Given the description of an element on the screen output the (x, y) to click on. 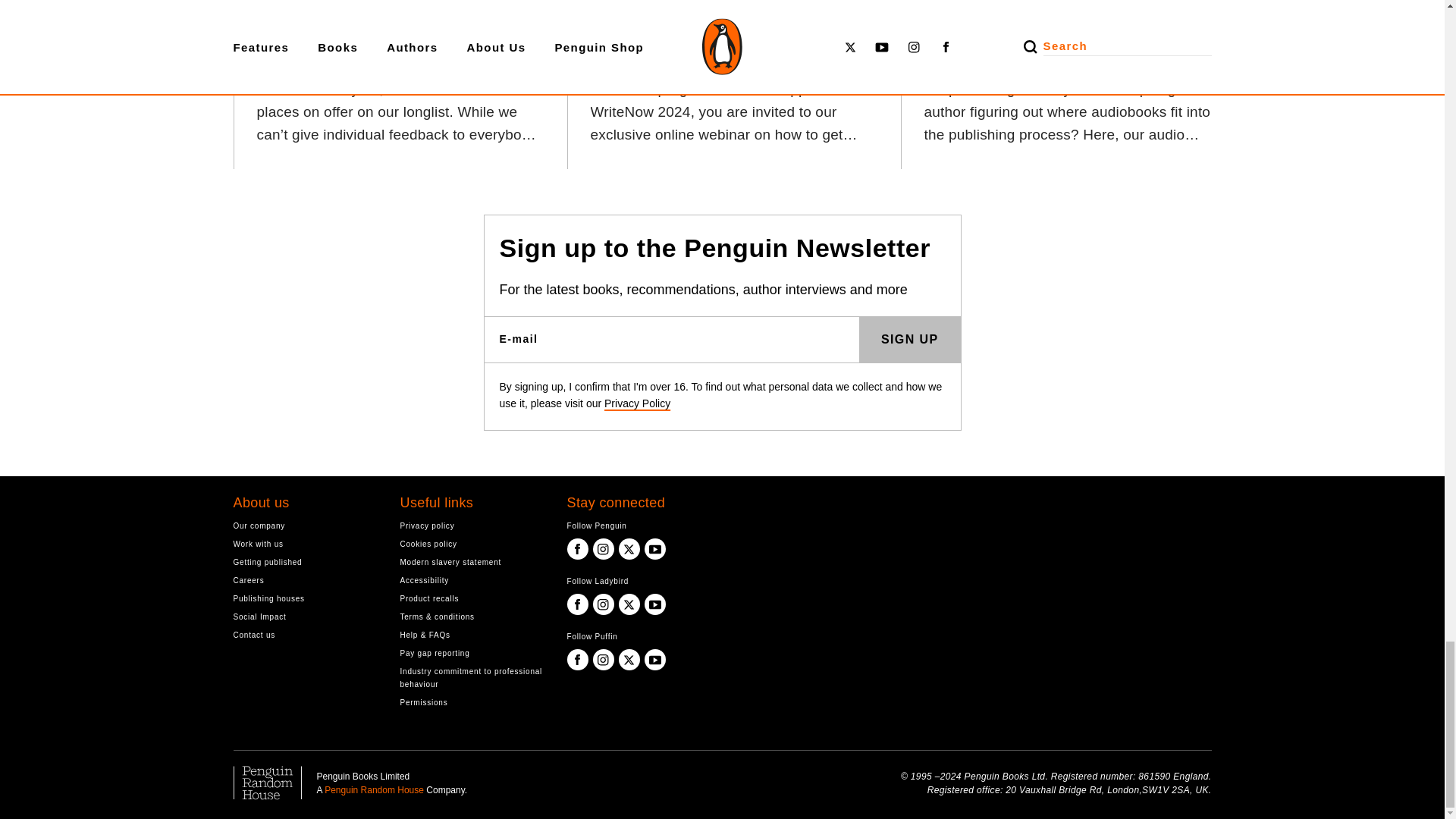
Privacy policy (472, 525)
Contact us (304, 634)
Getting published (304, 562)
Cookies policy (472, 543)
Our company (304, 525)
Publishing houses (304, 598)
Modern slavery statement (472, 562)
Work with us (304, 543)
Careers (304, 580)
SIGN UP (909, 339)
